Given the description of an element on the screen output the (x, y) to click on. 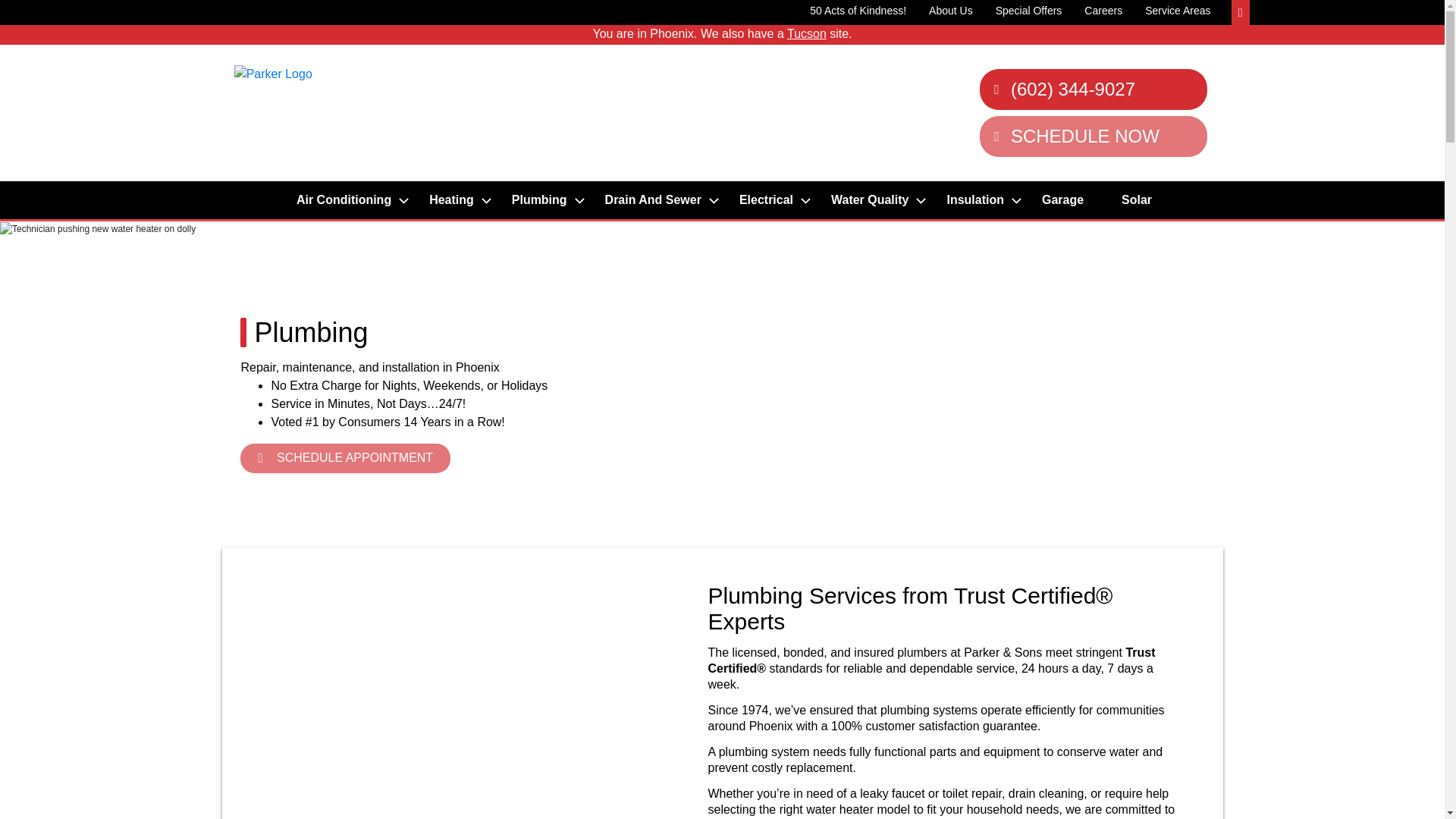
About Us (950, 10)
Careers (1103, 10)
Tucson (807, 33)
Special Offers (1028, 10)
Heating (454, 199)
Tucson (807, 33)
Air Conditioning (347, 199)
SCHEDULE NOW (1093, 136)
Service Areas (1176, 10)
50 Acts of Kindness! (857, 10)
